Given the description of an element on the screen output the (x, y) to click on. 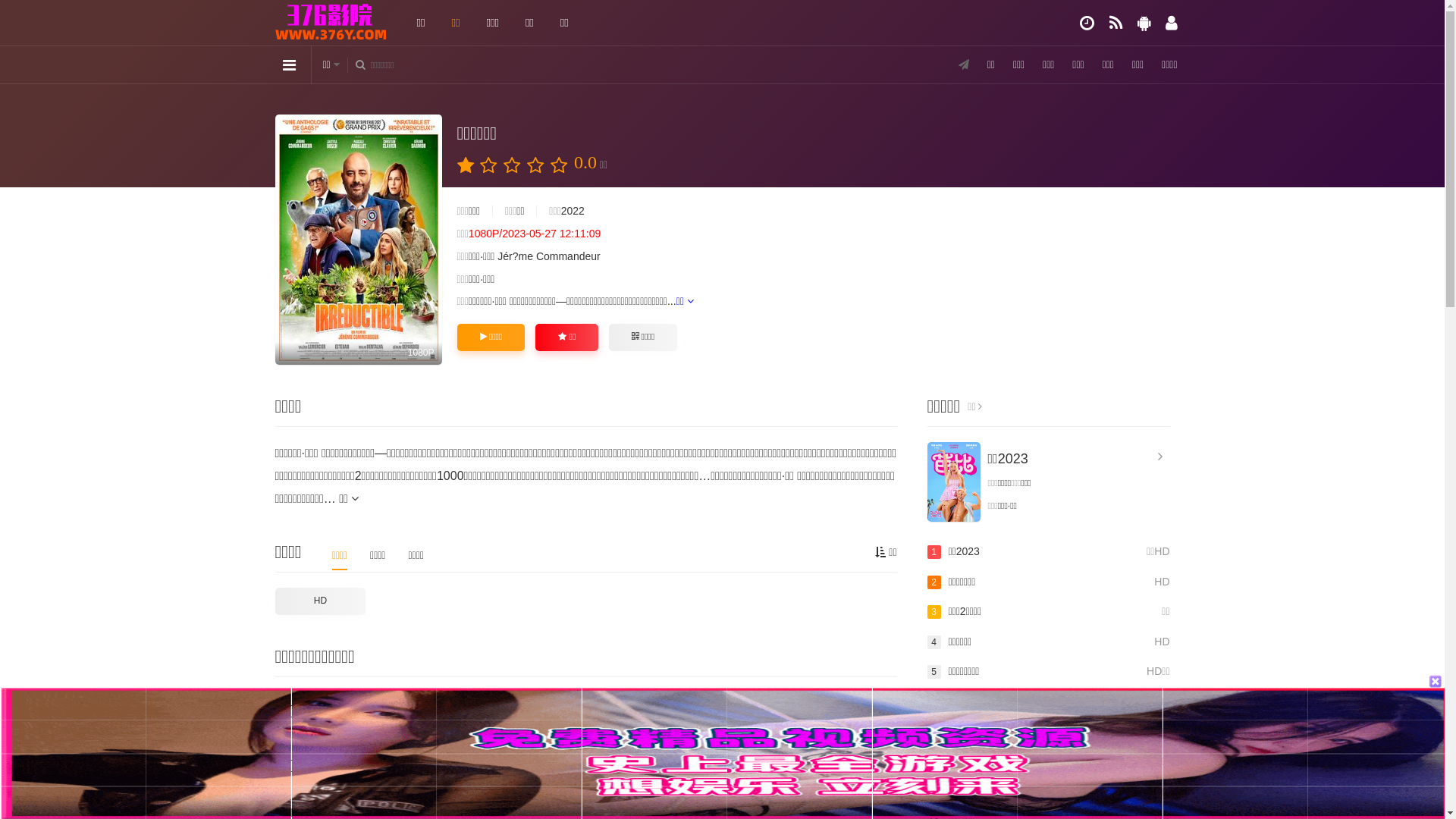
HD Element type: text (319, 601)
Commandeur Element type: text (568, 256)
2022 Element type: text (572, 210)
1080P Element type: text (357, 239)
